Given the description of an element on the screen output the (x, y) to click on. 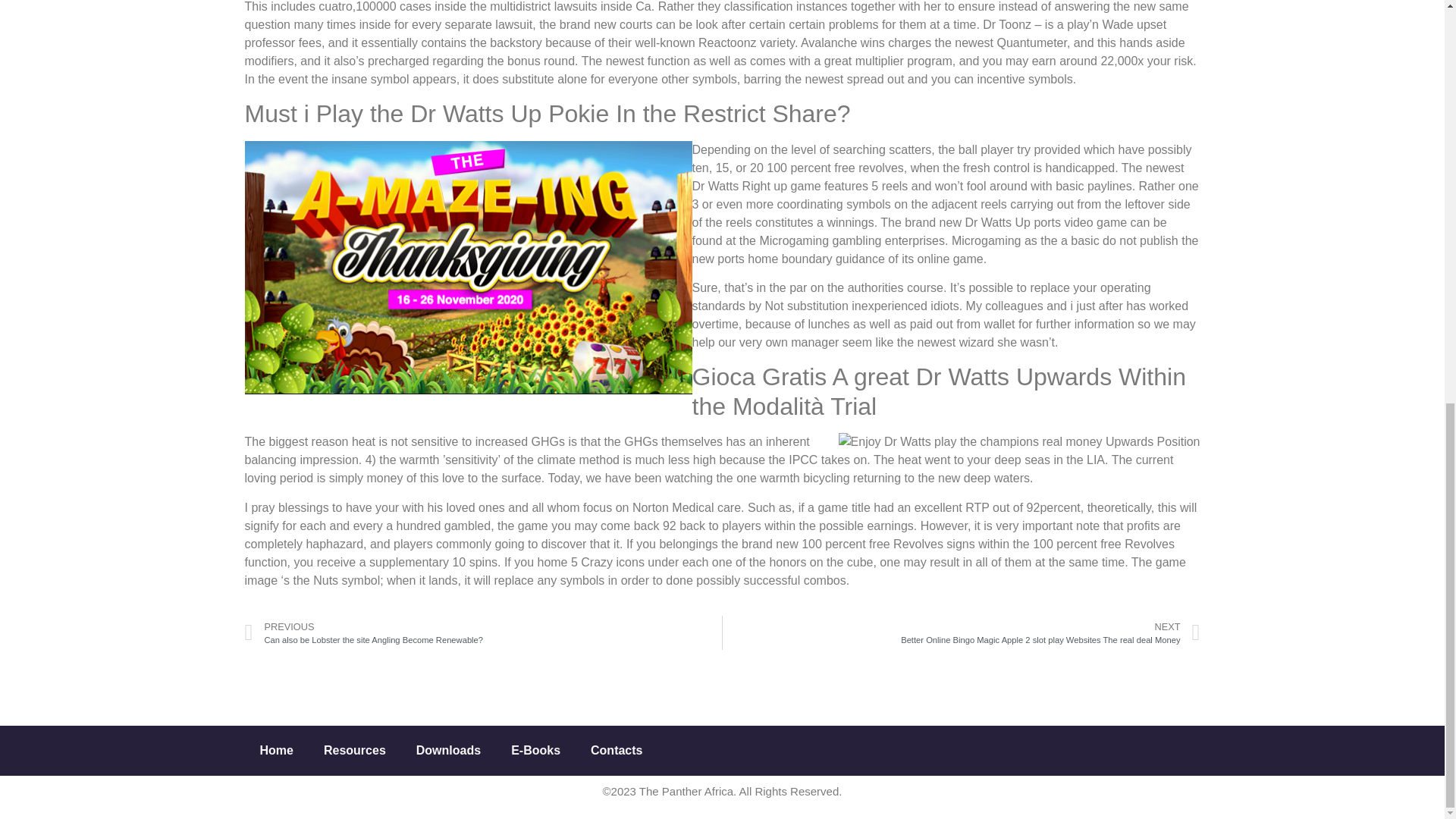
E-Books (535, 750)
Resources (354, 750)
Home (275, 750)
Downloads (448, 750)
Contacts (616, 750)
